Given the description of an element on the screen output the (x, y) to click on. 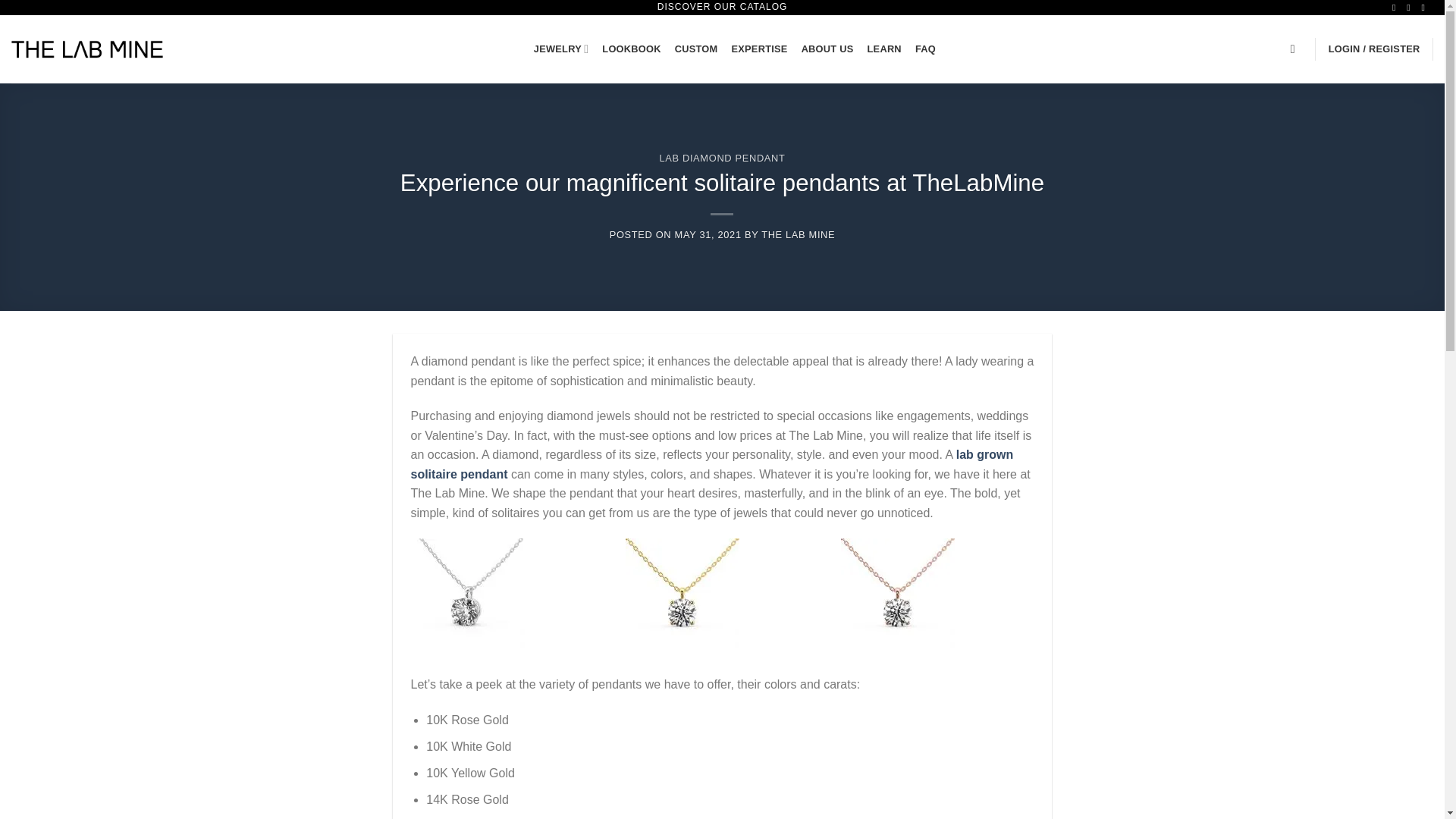
JEWELRY (561, 48)
LEARN (884, 49)
LAB DIAMOND PENDANT (721, 157)
MAY 31, 2021 (708, 234)
EXPERTISE (758, 49)
LOOKBOOK (631, 49)
ABOUT US (827, 49)
DISCOVER OUR CATALOG (722, 6)
lab grown solitaire pendant (711, 463)
CUSTOM (696, 49)
